Given the description of an element on the screen output the (x, y) to click on. 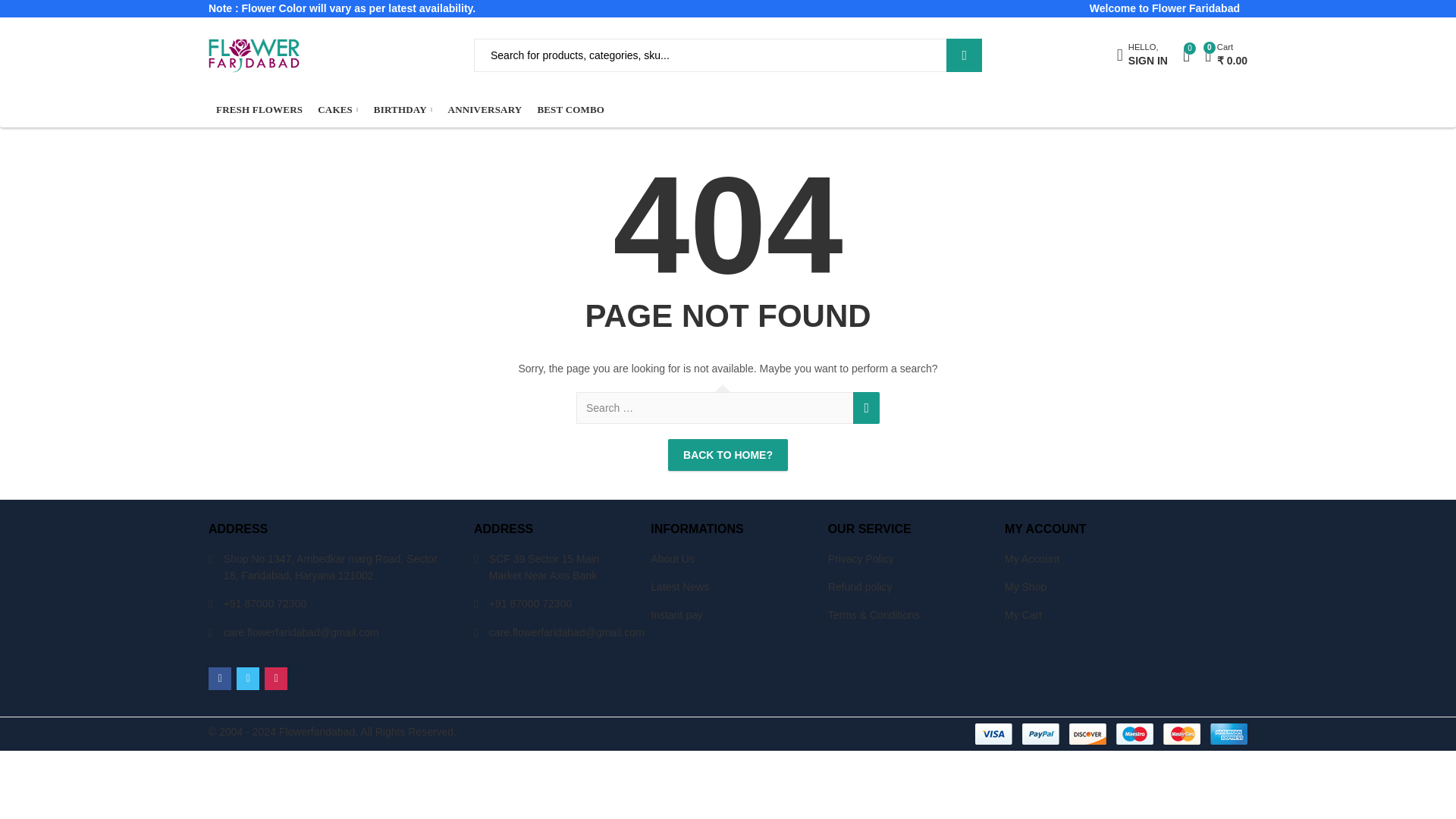
CAKES (338, 110)
BIRTHDAY (403, 110)
FRESH FLOWERS (259, 110)
SEARCH (963, 55)
